Given the description of an element on the screen output the (x, y) to click on. 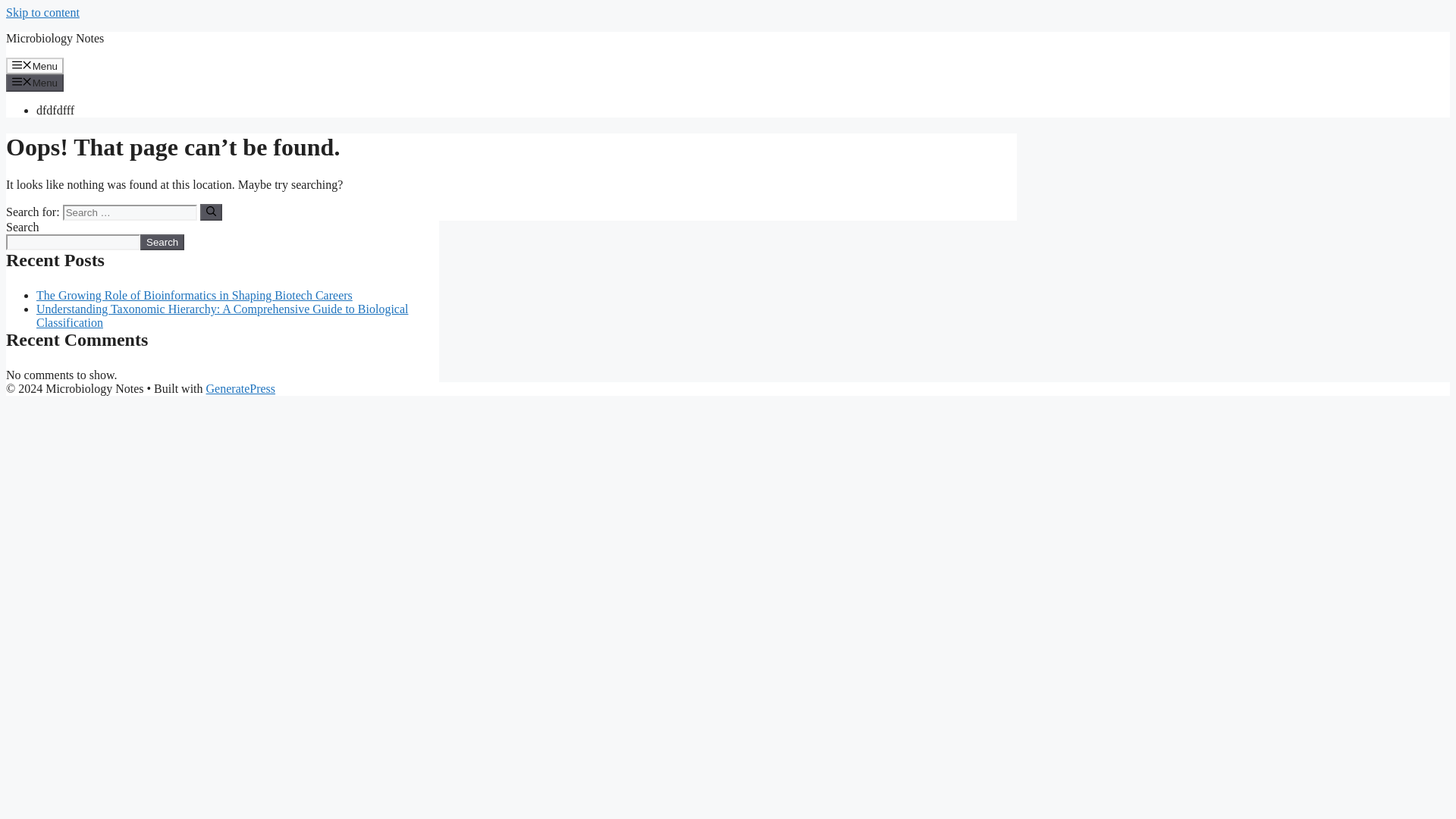
Search for: (129, 212)
Skip to content (42, 11)
Menu (34, 82)
Skip to content (42, 11)
dfdfdfff (55, 110)
Search (161, 242)
Menu (34, 65)
Microbiology Notes (54, 38)
